Given the description of an element on the screen output the (x, y) to click on. 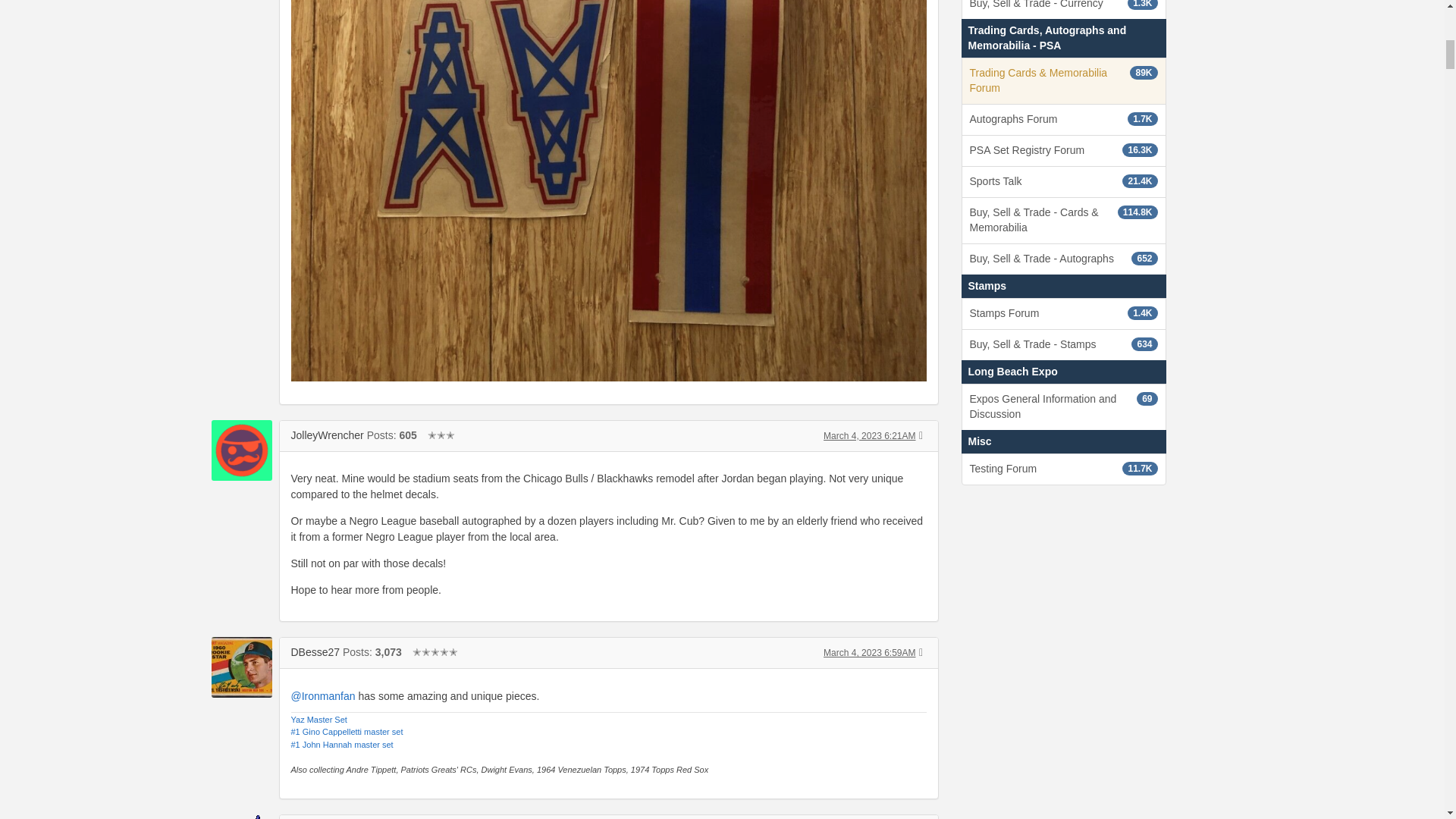
March 4, 2023 6:21AM (869, 435)
March 4, 2023 6:59AM (869, 652)
Master Collector (435, 652)
JolleyWrencher (327, 435)
Yaz Master Set (319, 718)
Collector (441, 435)
JolleyWrencher (240, 450)
DBesse27 (315, 652)
March 4, 2023 6:21AM (869, 435)
DBesse27 (240, 667)
March 4, 2023 6:59AM (869, 652)
